Given the description of an element on the screen output the (x, y) to click on. 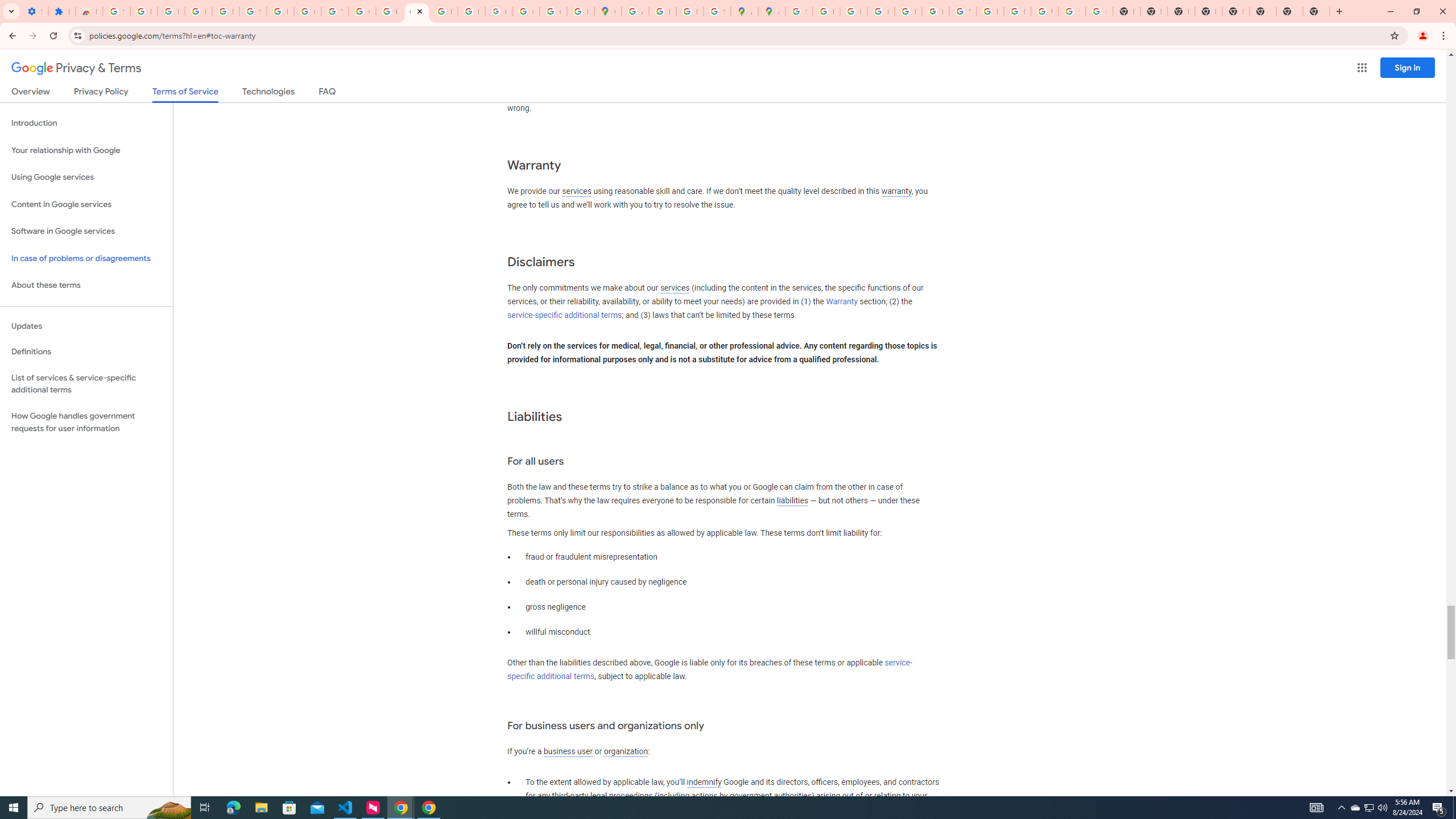
Sign in - Google Accounts (116, 11)
FAQ (327, 93)
YouTube (334, 11)
Reviews: Helix Fruit Jump Arcade Game (88, 11)
indemnify (703, 782)
Privacy Help Center - Policies Help (853, 11)
services (674, 288)
